Given the description of an element on the screen output the (x, y) to click on. 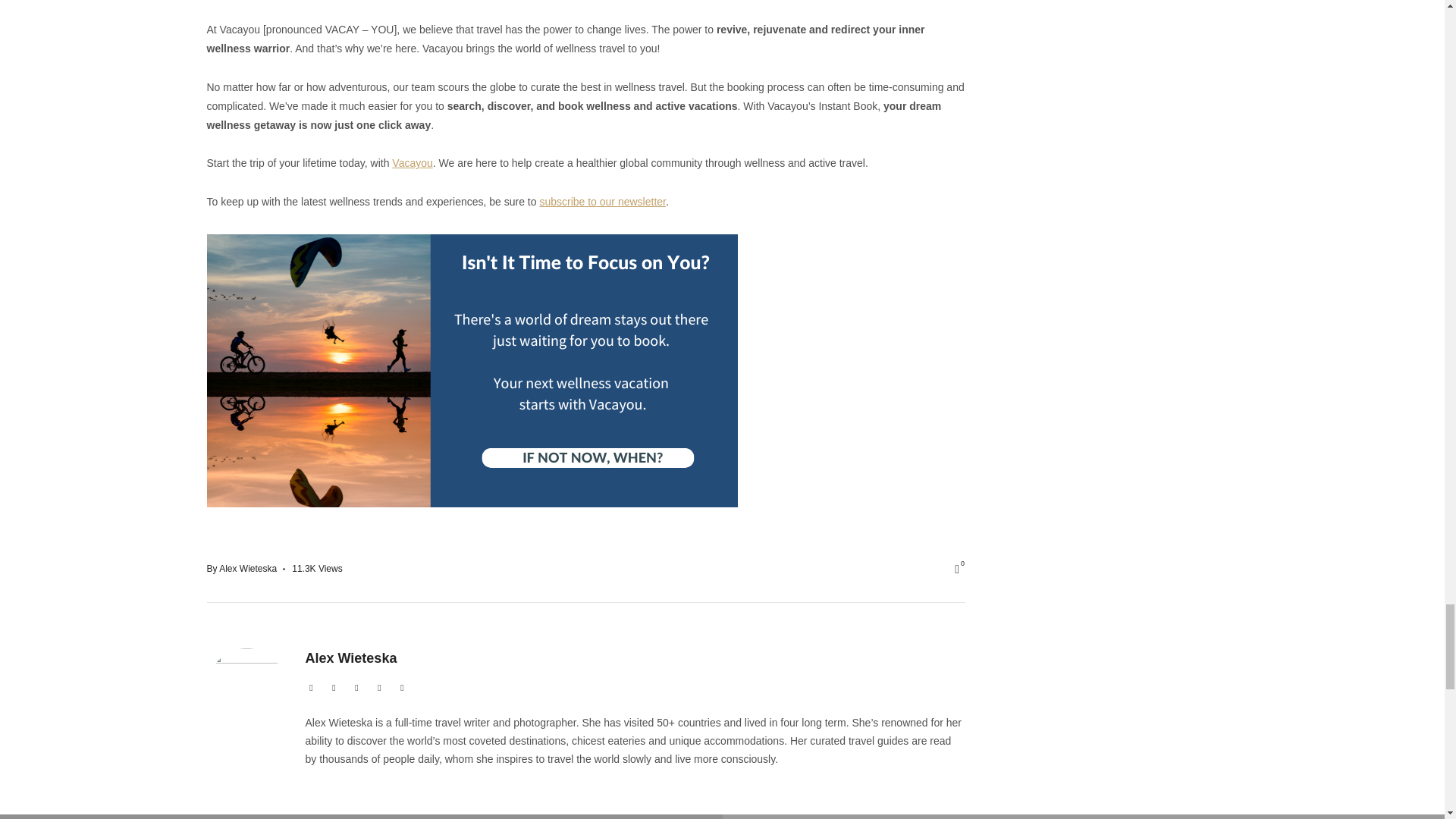
Instagram (379, 687)
Twitter (334, 687)
Facebook (357, 687)
Website (311, 687)
Pinterest (402, 687)
